Given the description of an element on the screen output the (x, y) to click on. 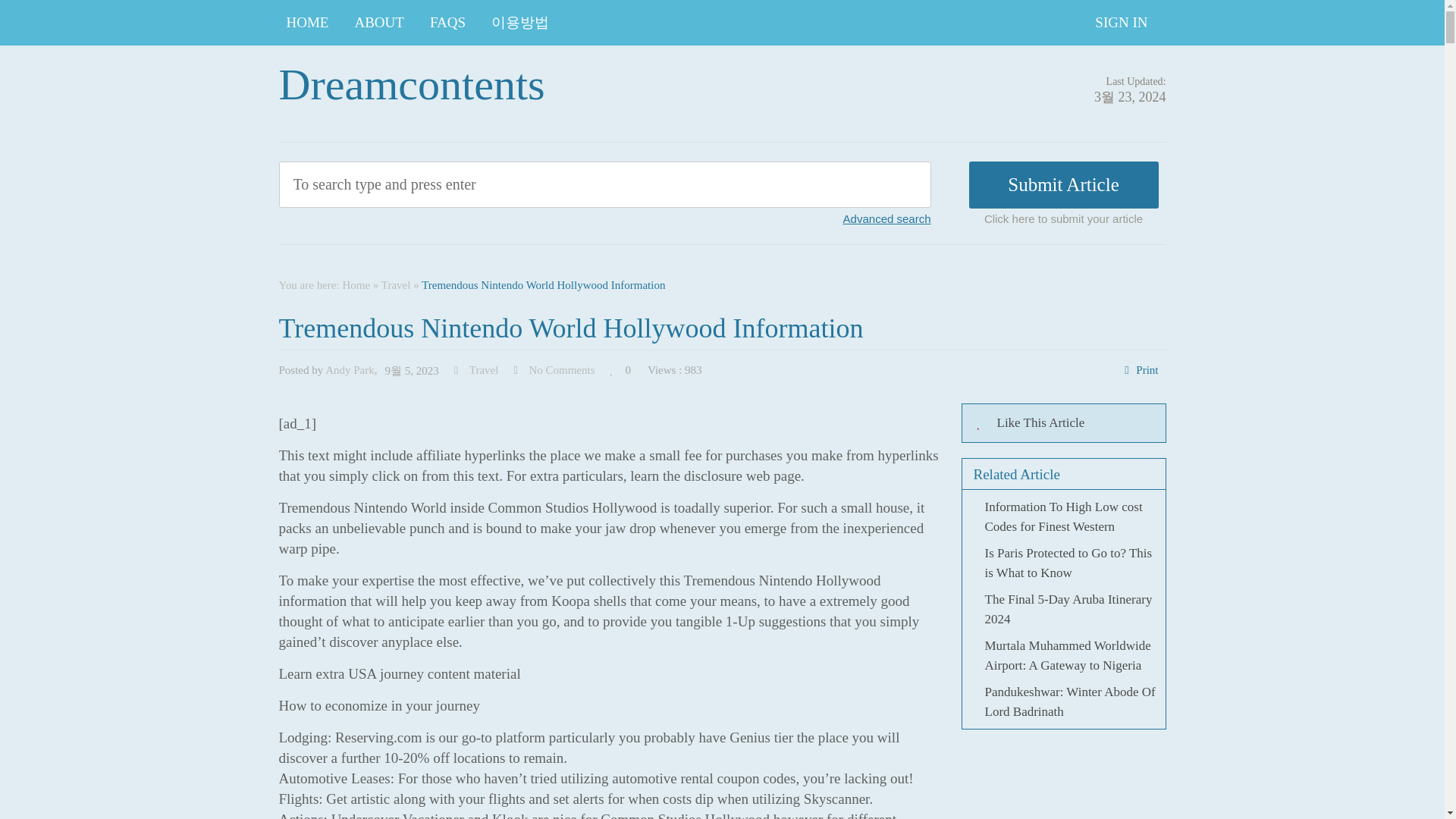
No Comments (561, 369)
Advanced search (887, 218)
FAQS (447, 22)
Submit Article (1063, 184)
Home (355, 285)
Travel (395, 285)
ABOUT (378, 22)
SIGN IN (1120, 22)
Dreamcontents (411, 83)
HOME (307, 22)
To search type and press enter (535, 184)
Posts by Andy Park (349, 369)
Andy Park (349, 369)
Travel (483, 369)
Print (1146, 369)
